Given the description of an element on the screen output the (x, y) to click on. 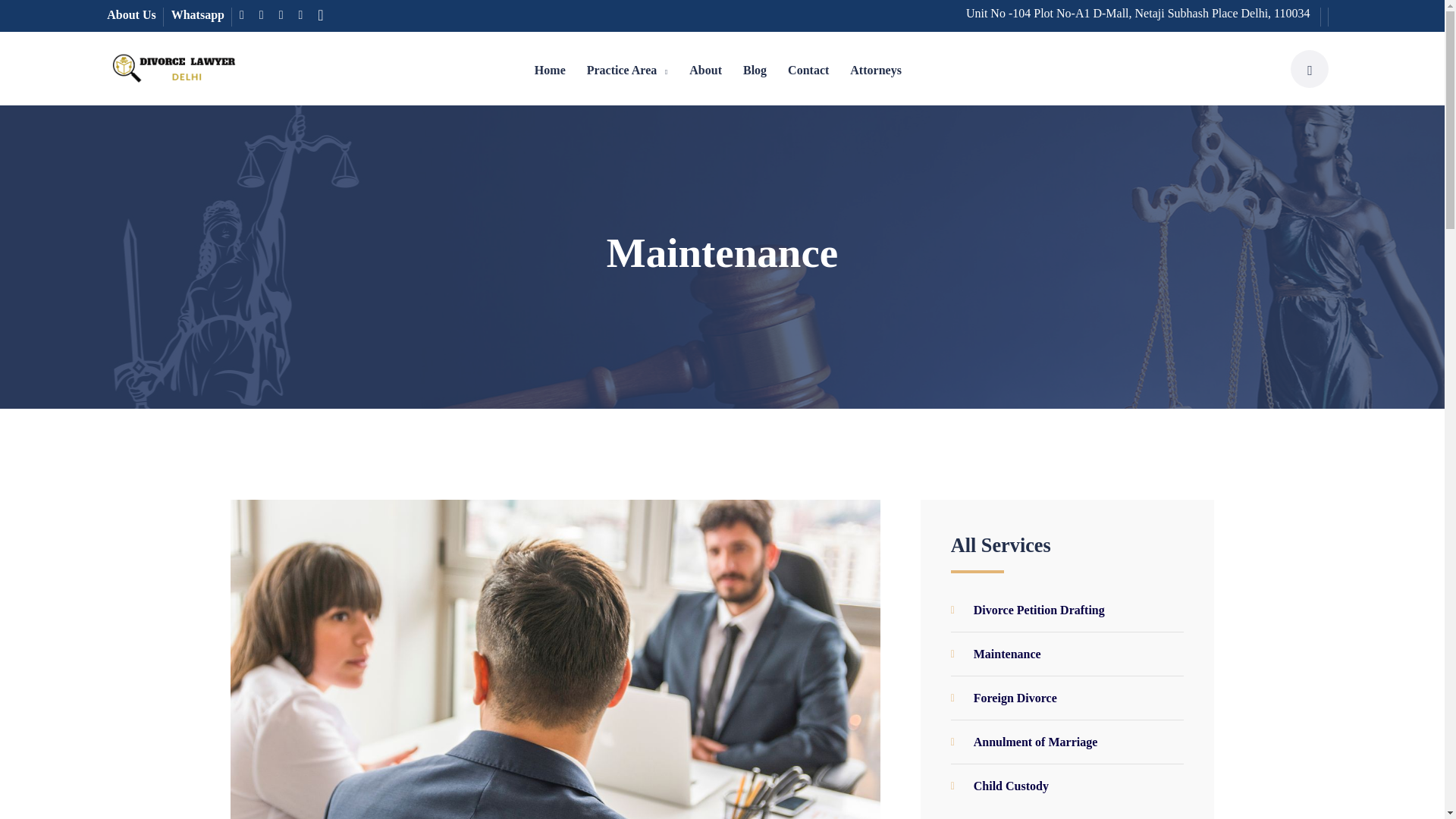
Foreign Divorce (1066, 698)
Whatsapp (197, 14)
About Us (130, 14)
Practice Area (622, 70)
Maintenance (1066, 654)
Divorce Petition Drafting (1066, 610)
Attorneys (876, 70)
Child Custody (1066, 780)
Annulment of Marriage (1066, 742)
